Given the description of an element on the screen output the (x, y) to click on. 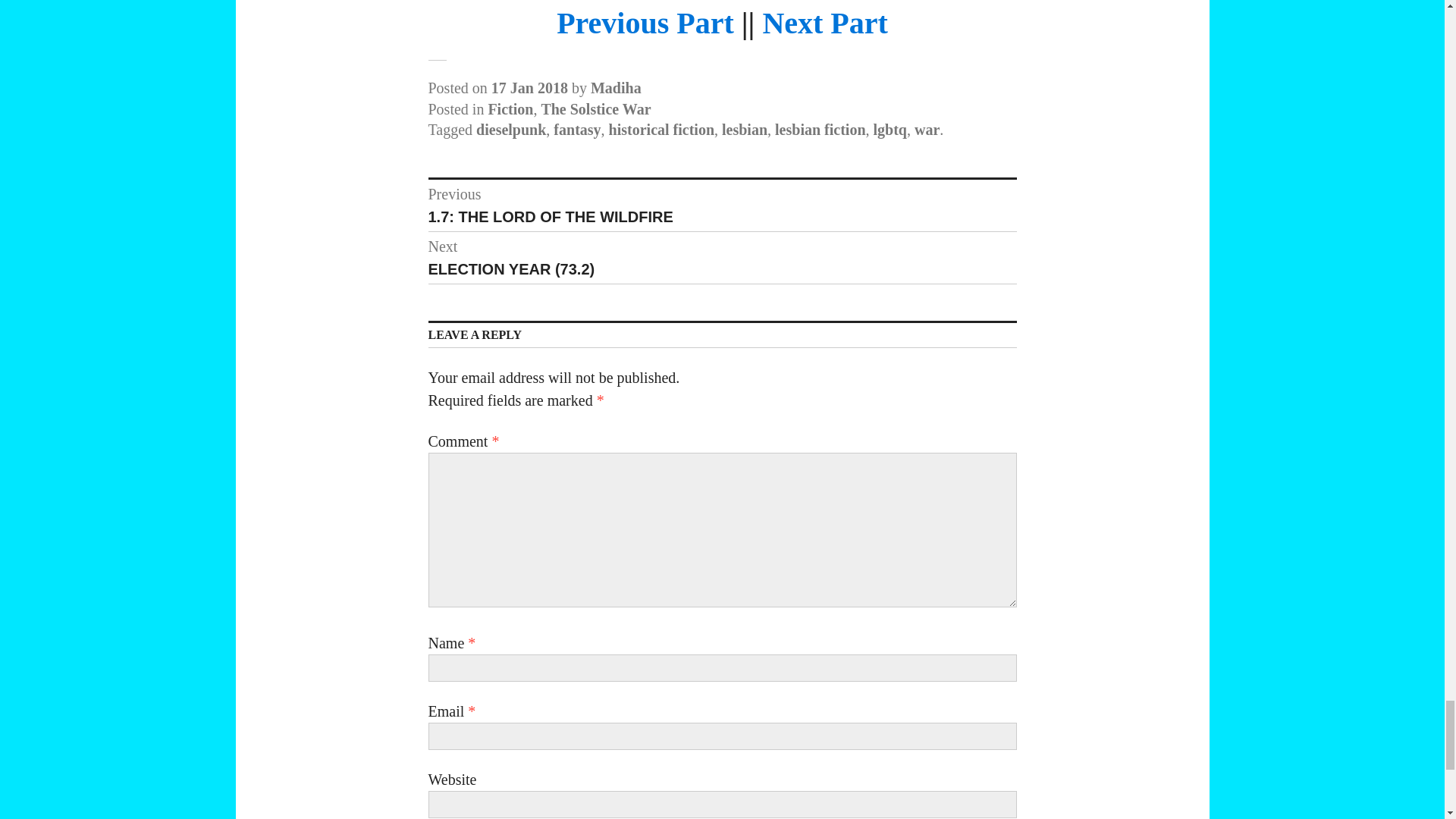
Fiction (722, 205)
17 Jan 2018 (509, 108)
dieselpunk (529, 87)
Madiha (511, 129)
Next Part (616, 87)
lesbian (823, 22)
Previous Part (744, 129)
fantasy (644, 22)
historical fiction (576, 129)
